Given the description of an element on the screen output the (x, y) to click on. 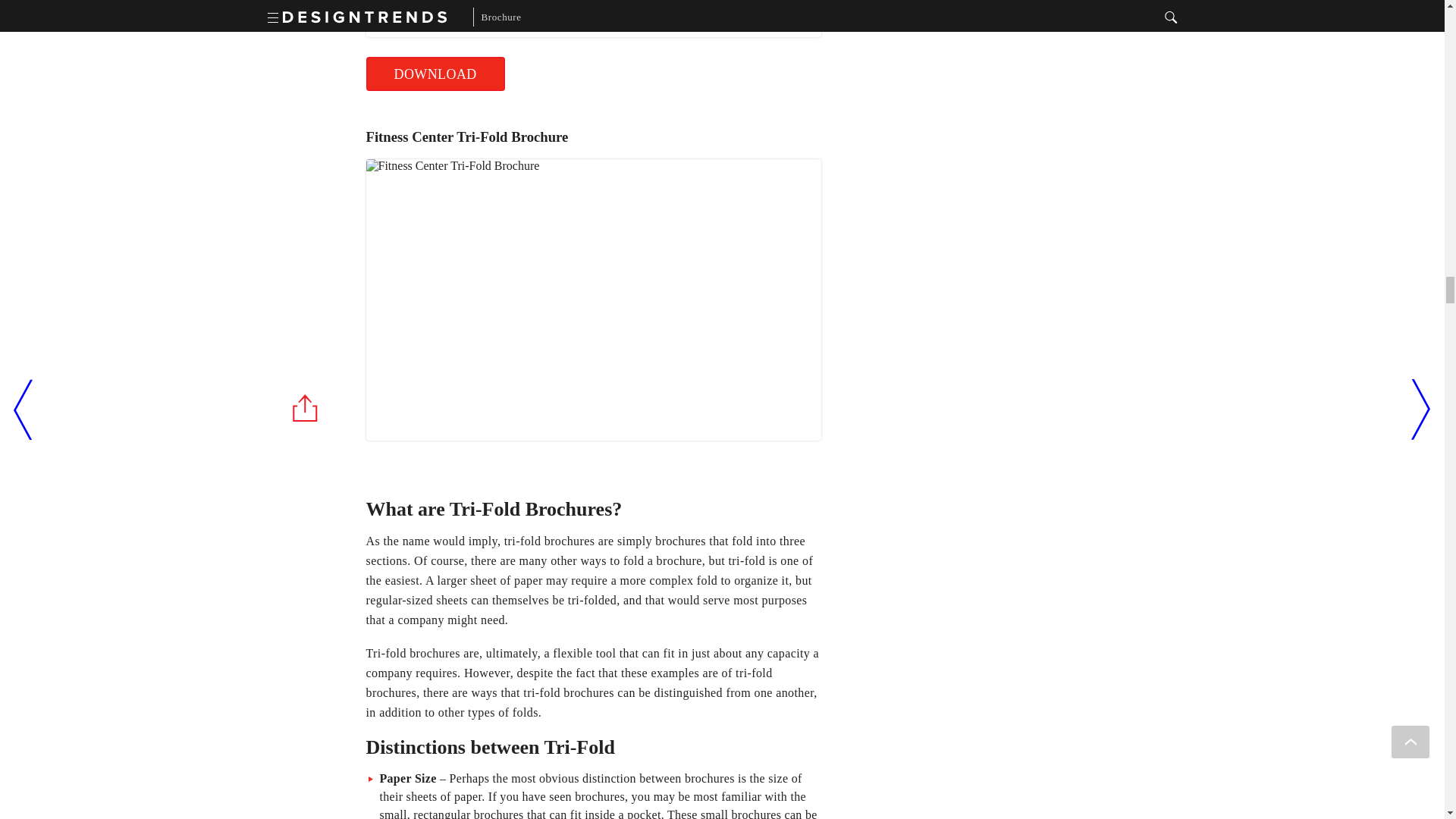
DOWNLOAD (434, 73)
